Given the description of an element on the screen output the (x, y) to click on. 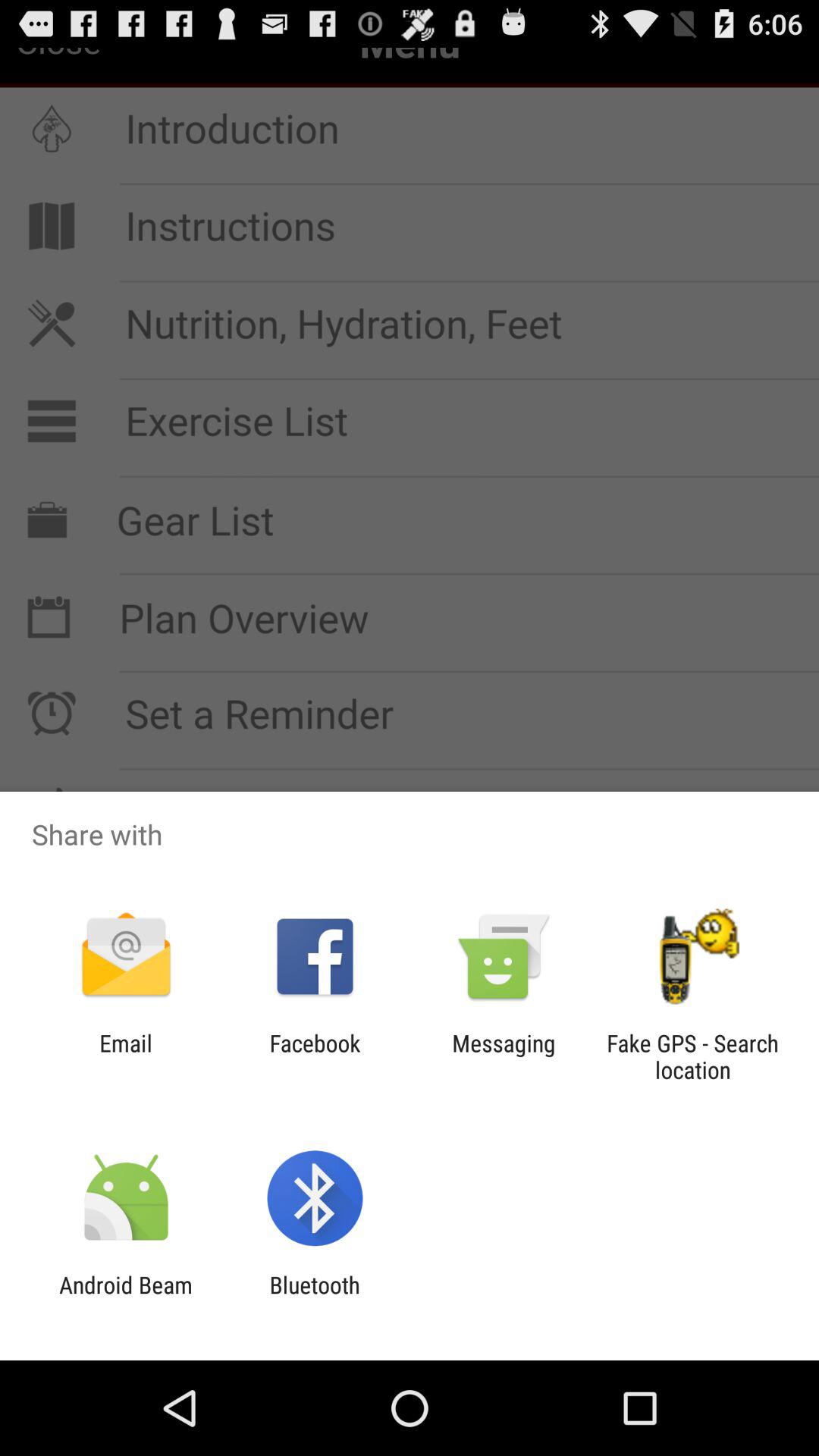
turn on item next to email item (314, 1056)
